Given the description of an element on the screen output the (x, y) to click on. 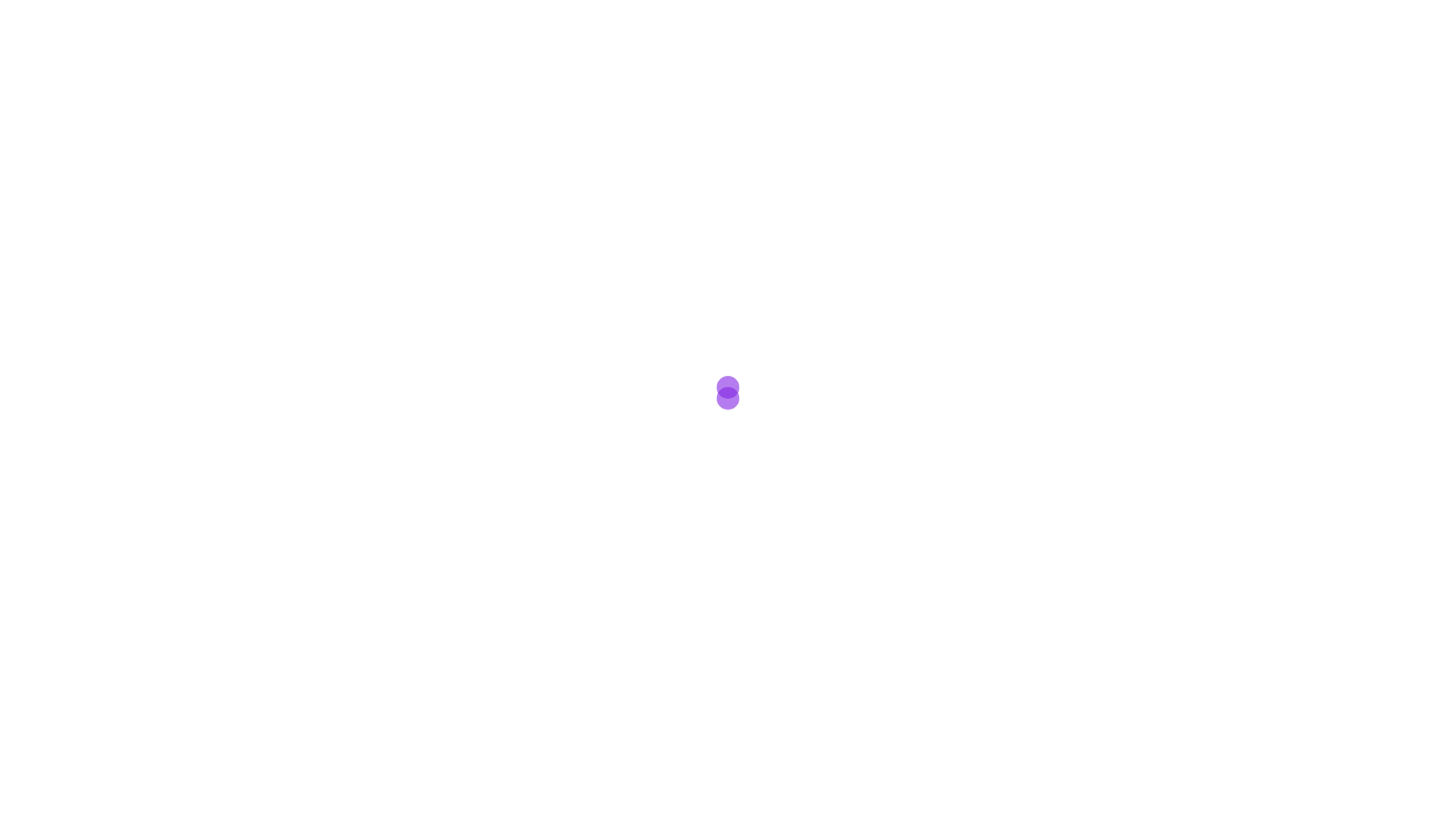
Bedrijven Element type: text (823, 67)
Bruidswerk Element type: text (545, 67)
Promoties Element type: text (1045, 67)
Skip to content Element type: text (0, 0)
Over Element type: text (386, 67)
Workshops Element type: text (897, 67)
Blommapart Element type: hover (727, 29)
Webshop Element type: text (973, 67)
Abonnementen Element type: text (738, 67)
Bloemstukken Element type: text (457, 67)
Afscheid nemen Element type: text (636, 67)
Home Element type: text (336, 67)
Contact Element type: text (1113, 67)
0 items Element type: text (727, 91)
